Given the description of an element on the screen output the (x, y) to click on. 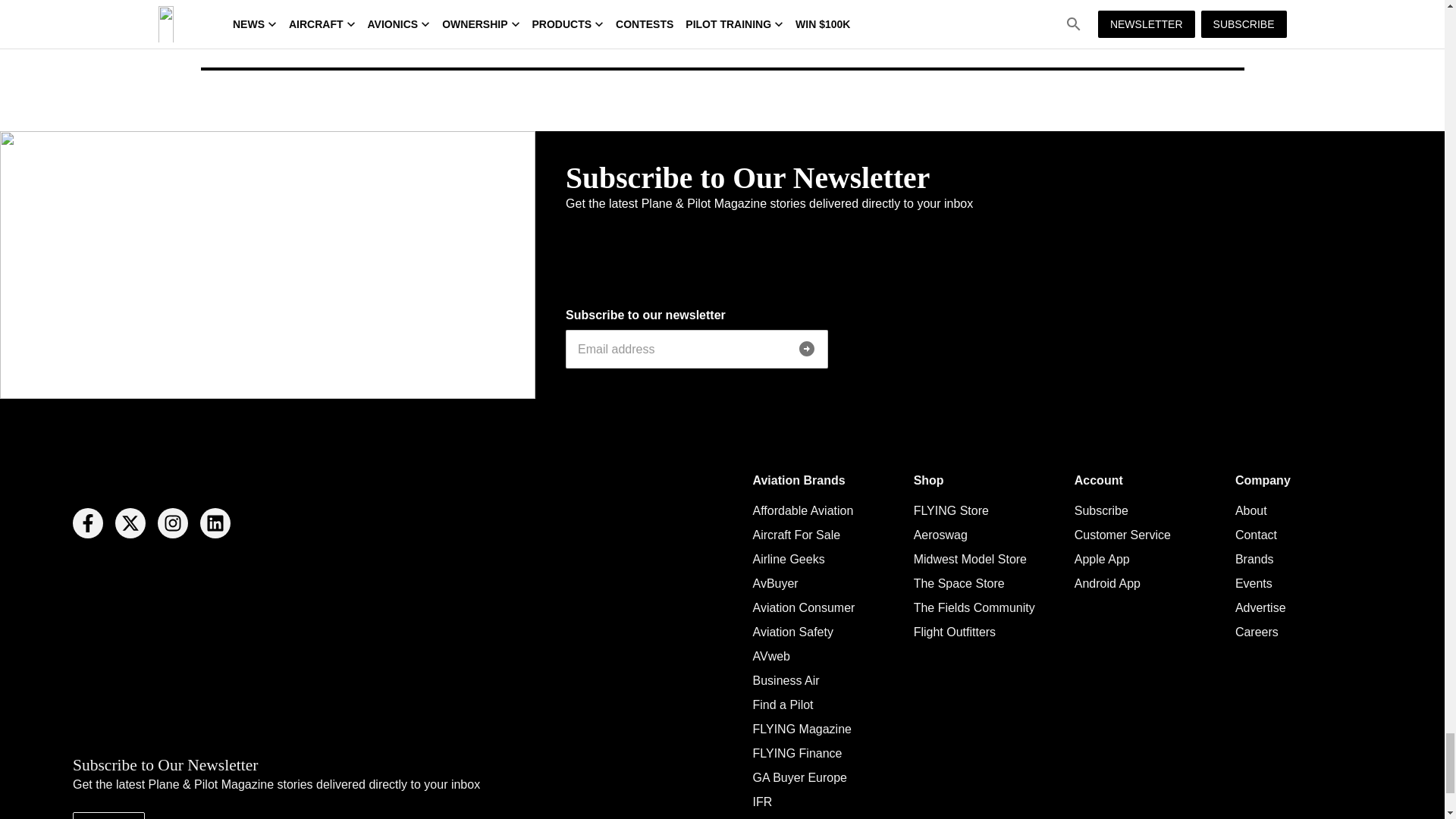
Facebook (87, 522)
Instagram (172, 522)
Twitter (130, 522)
Submit (807, 348)
Linkedin (215, 522)
